Given the description of an element on the screen output the (x, y) to click on. 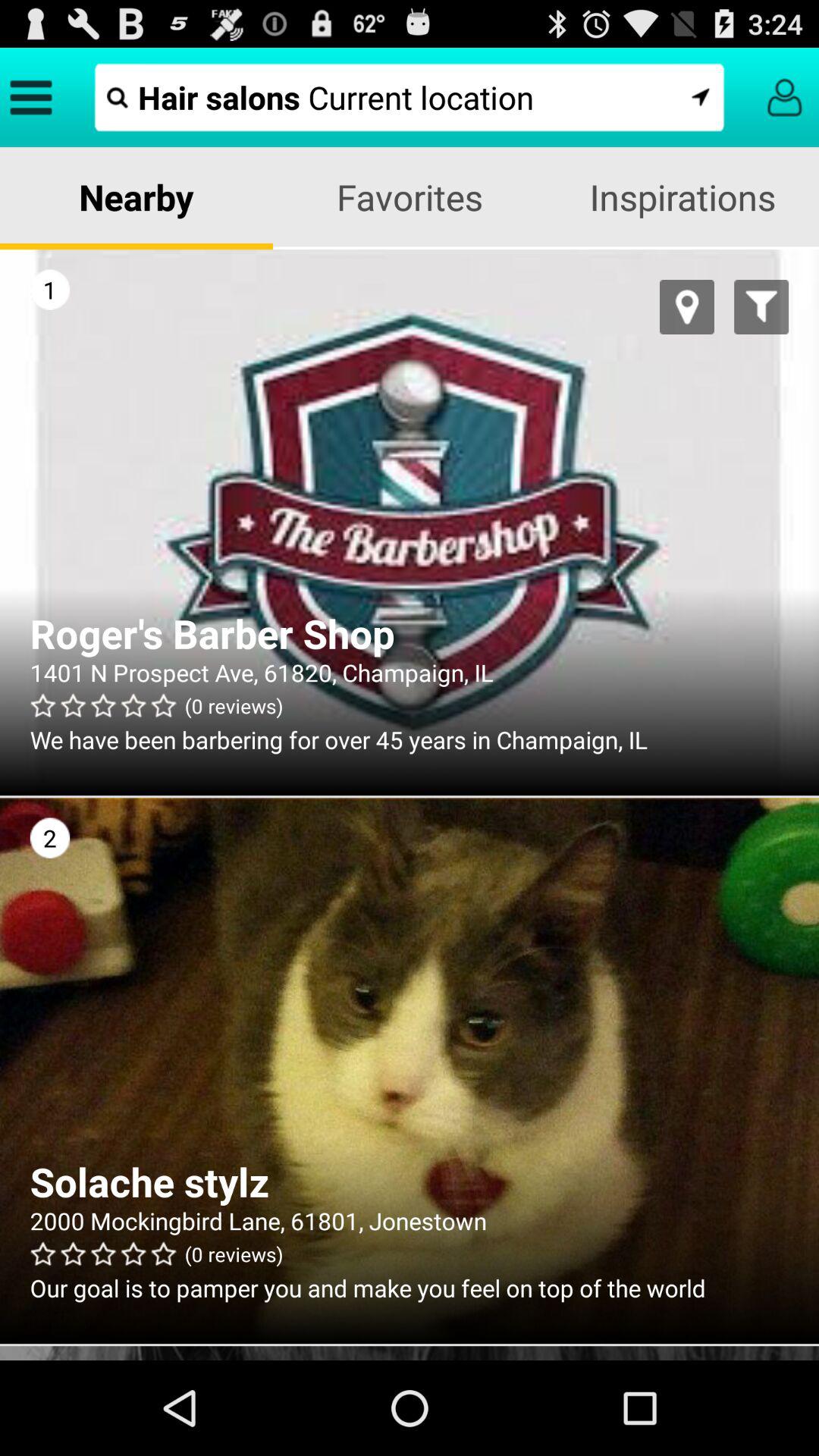
tap app above the (0 reviews) app (409, 672)
